Given the description of an element on the screen output the (x, y) to click on. 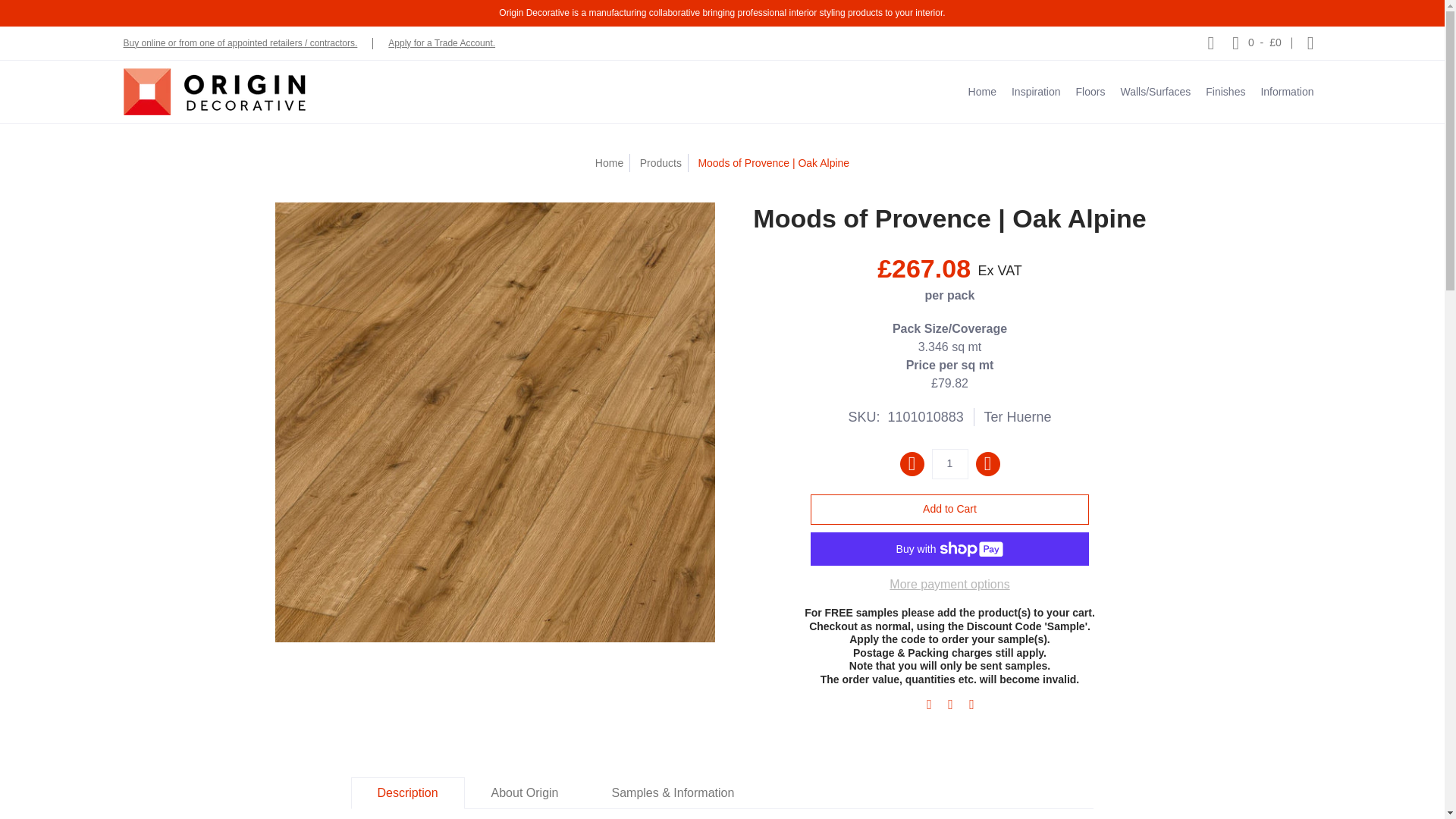
Origin Retailers and Contractors (239, 42)
Origin Decorative (213, 91)
Add to Cart (949, 509)
Inspiration (1036, 91)
Request to Open Trade Account. (441, 42)
Cart (1256, 42)
Log in (1310, 42)
1 (949, 463)
Inspiration (1036, 91)
Apply for a Trade Account. (441, 42)
Products (660, 162)
Information (1286, 91)
Ter Huerne (1017, 417)
Home (609, 162)
